Given the description of an element on the screen output the (x, y) to click on. 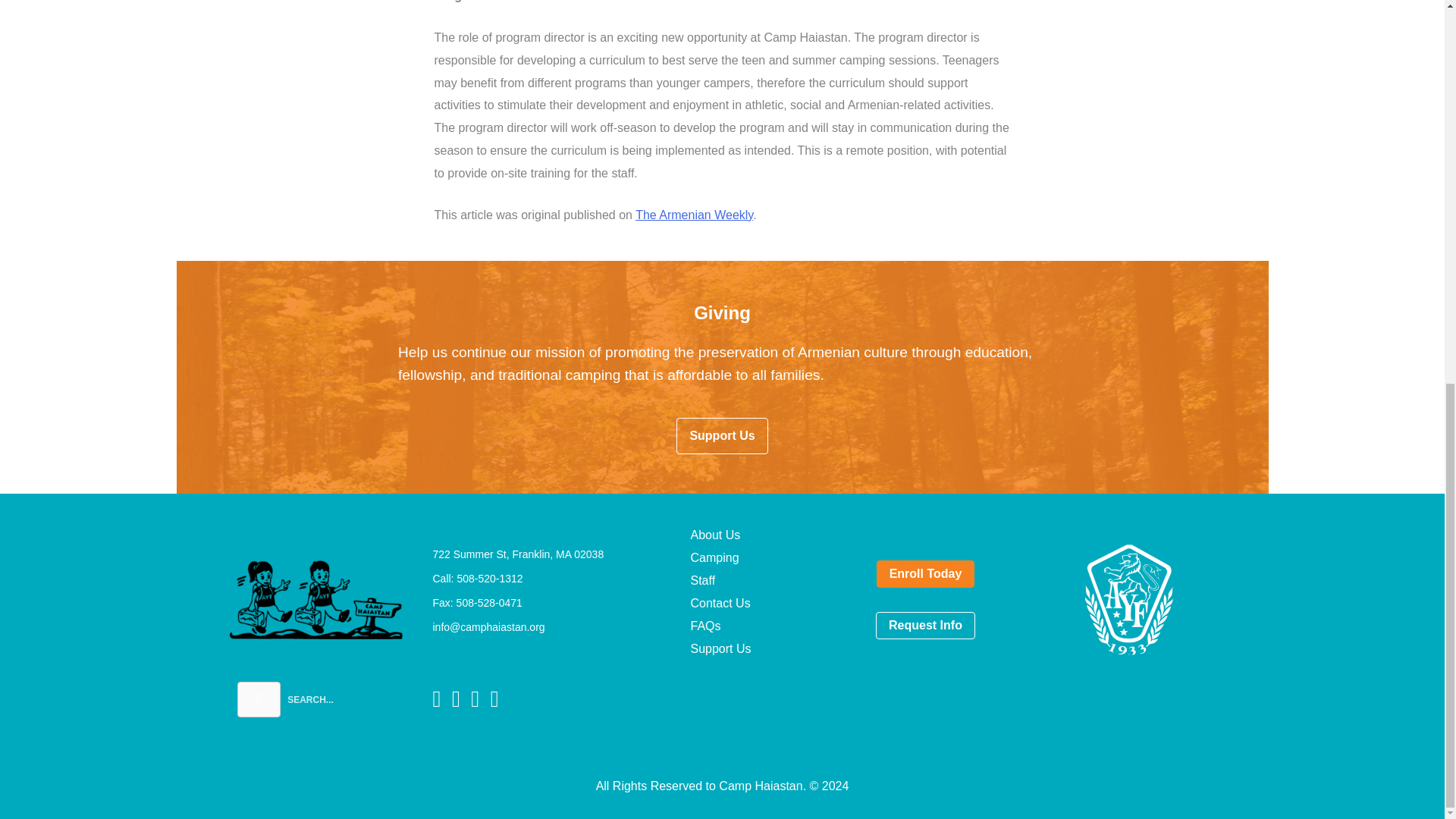
Asset 2 (314, 599)
